Given the description of an element on the screen output the (x, y) to click on. 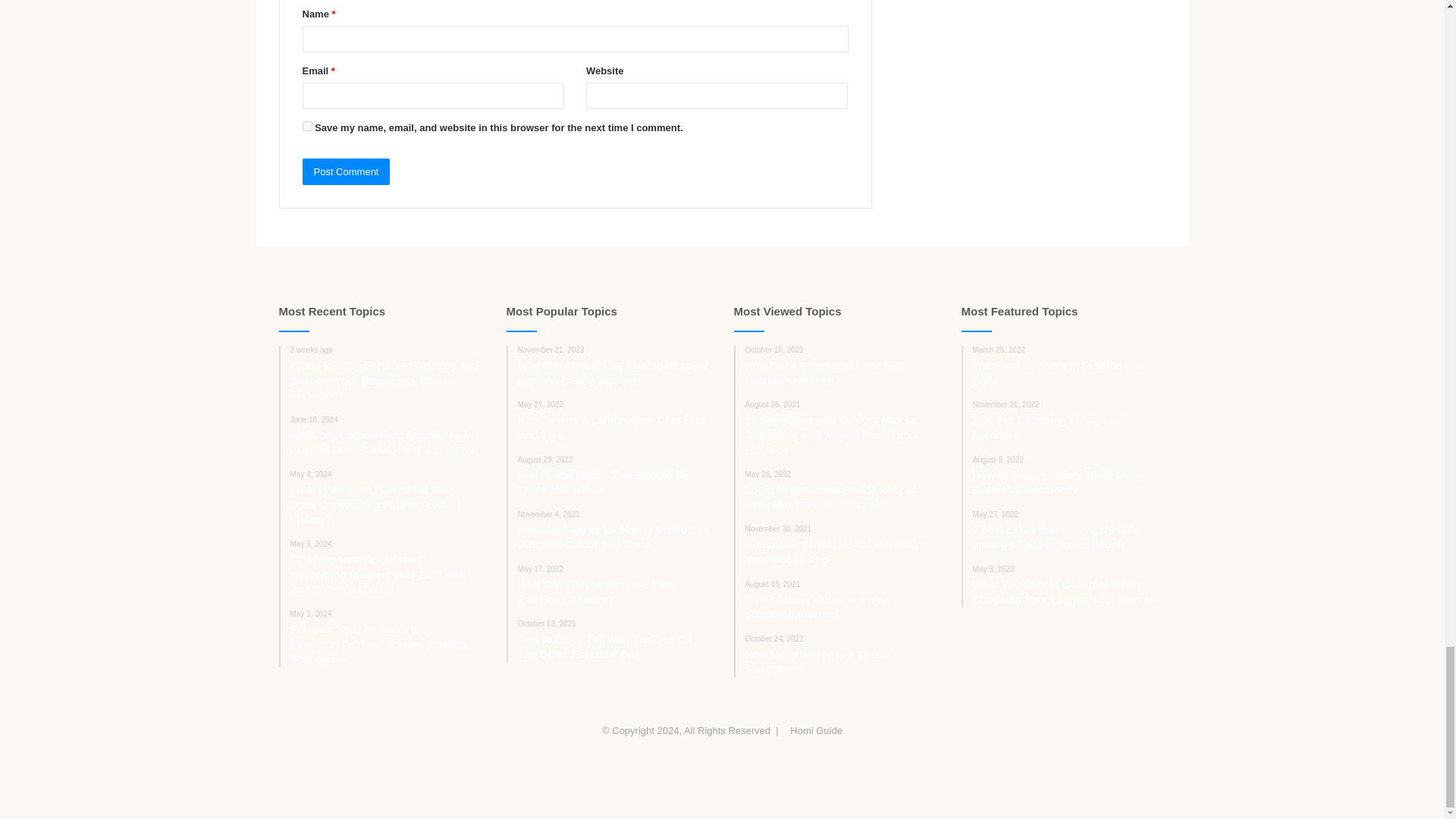
yes (306, 126)
Post Comment (345, 171)
